Given the description of an element on the screen output the (x, y) to click on. 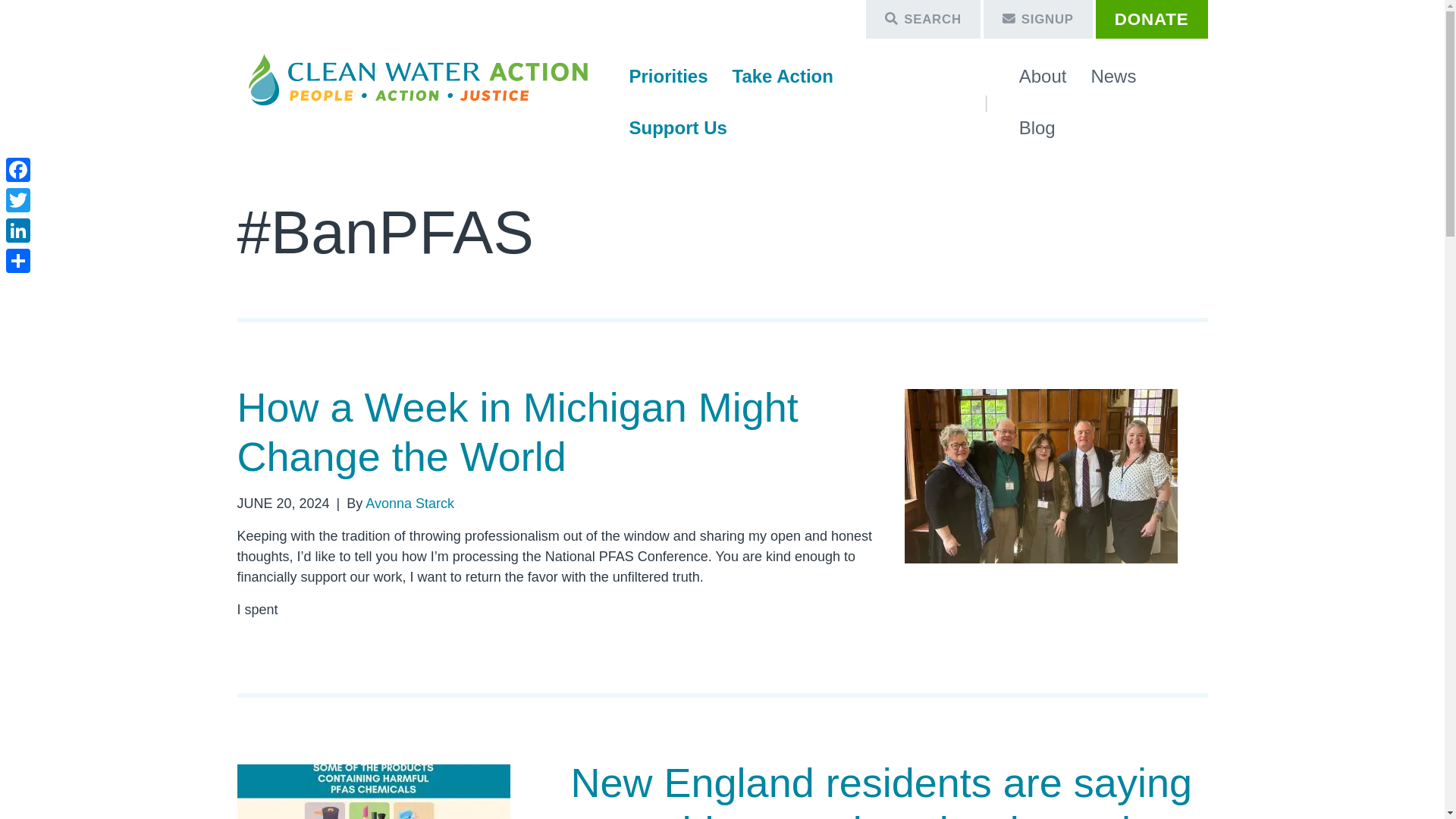
Support Us (678, 127)
Take Action (782, 76)
Priorities (668, 76)
News (1113, 76)
About (1042, 76)
